Given the description of an element on the screen output the (x, y) to click on. 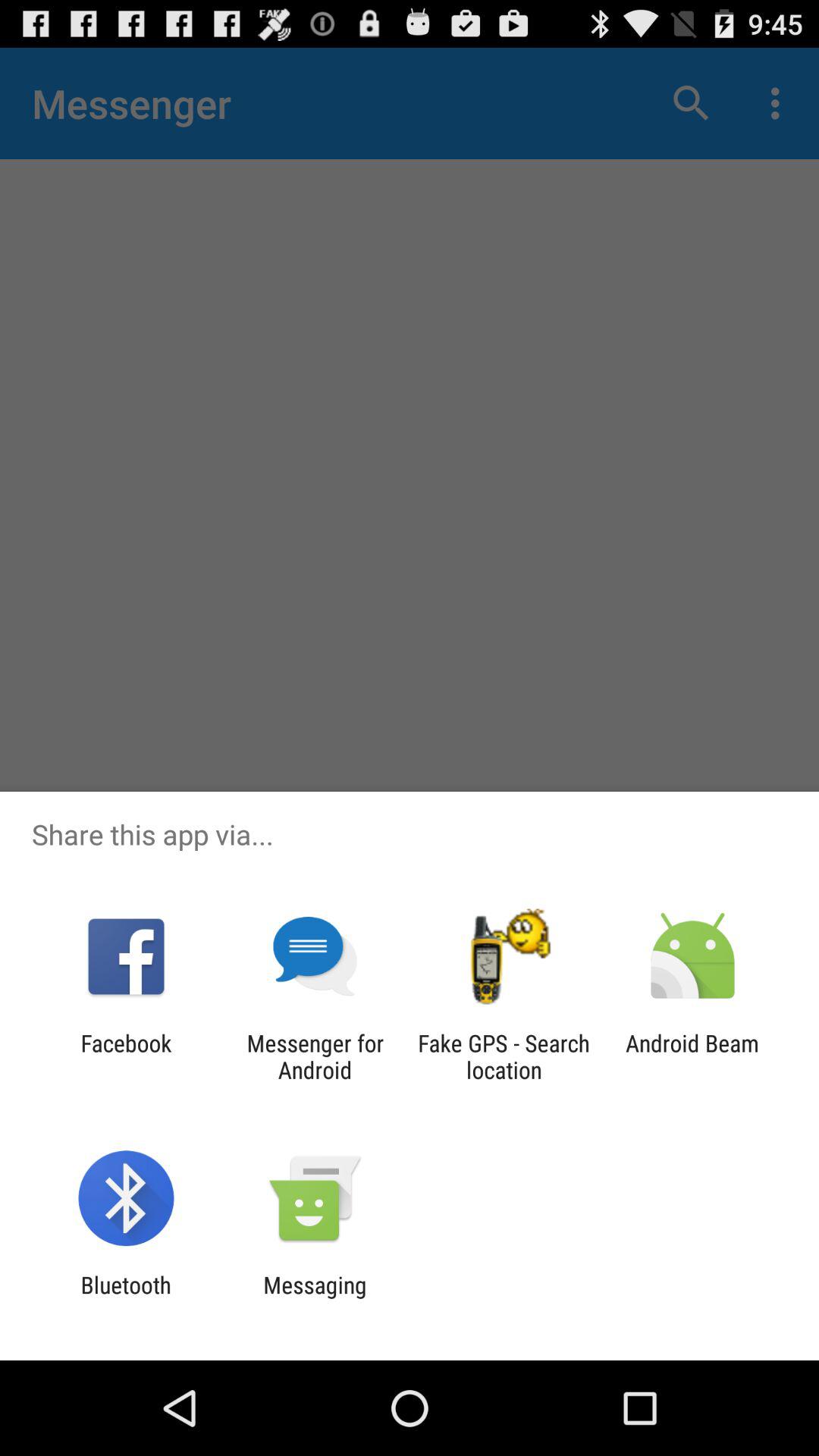
turn off item to the right of messenger for android icon (503, 1056)
